Given the description of an element on the screen output the (x, y) to click on. 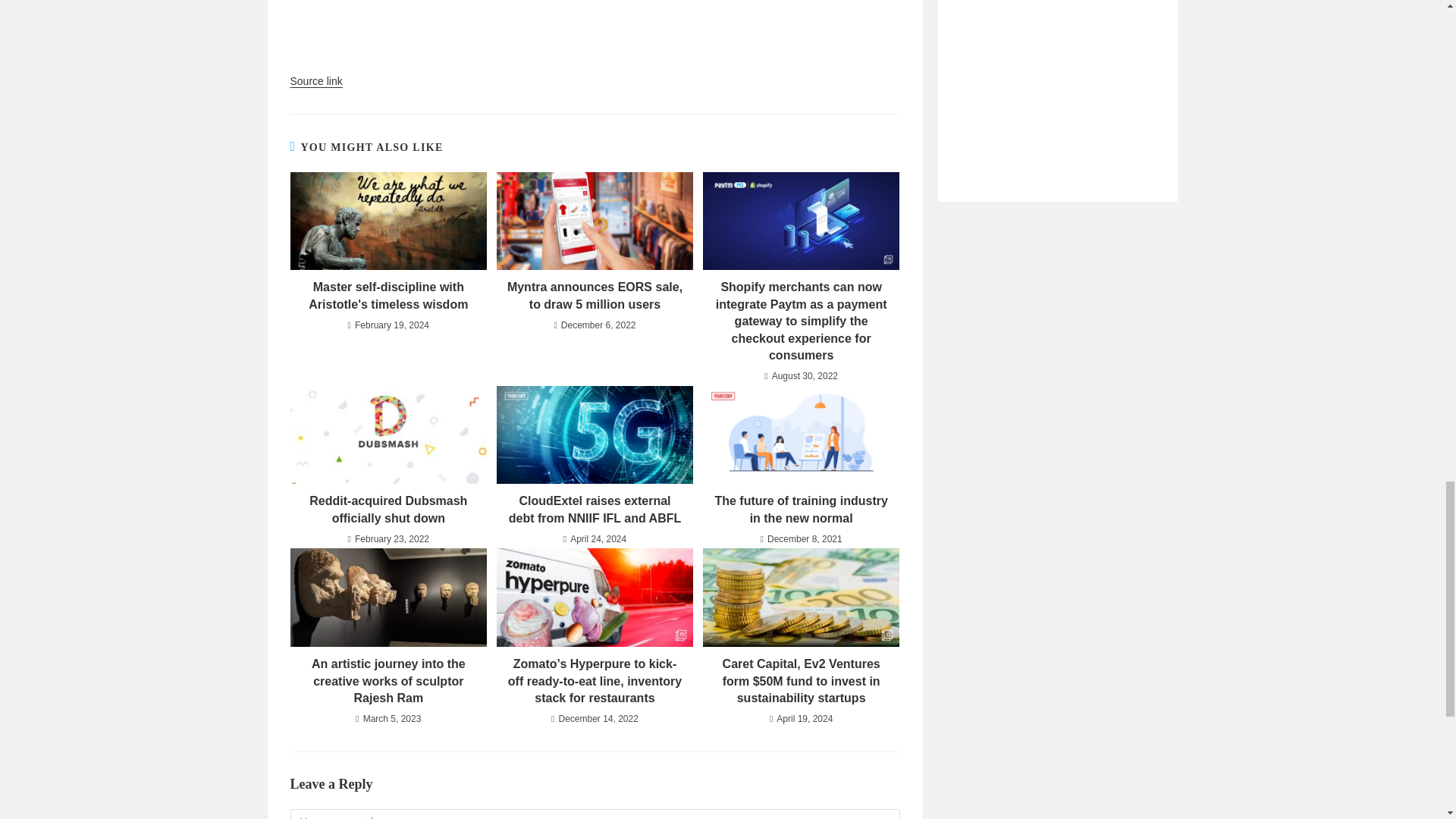
Reddit-acquired Dubsmash officially shut down (387, 510)
CloudExtel raises external debt from NNIIF IFL and ABFL (594, 510)
The future of training industry in the new normal (801, 510)
Advertisement (1056, 79)
Master self-discipline with Aristotle's timeless wisdom (387, 295)
Myntra announces EORS sale, to draw 5 million users (594, 295)
Source link (315, 80)
